Given the description of an element on the screen output the (x, y) to click on. 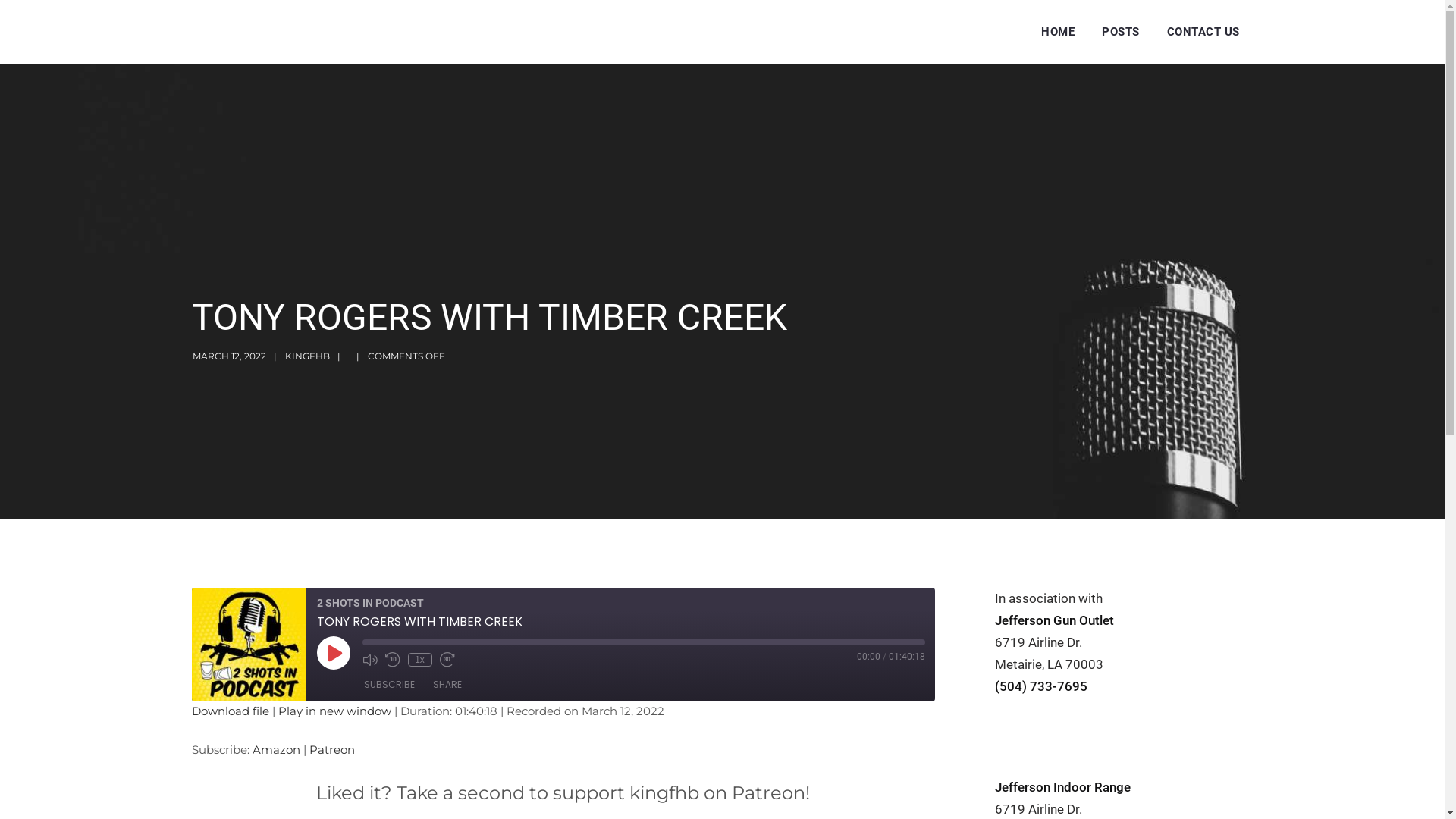
Amazon Element type: text (275, 748)
CONTACT US Element type: text (1202, 32)
Mute/Unmute Element type: hover (369, 659)
Play in new window Element type: text (333, 710)
HOME Element type: text (1057, 32)
Fast Forward 30 seconds Element type: hover (447, 659)
Patreon Element type: text (331, 748)
2 SHOTS IN PODCAST Element type: hover (247, 644)
Jefferson Gun Outlet Element type: text (1053, 619)
POSTS Element type: text (1120, 32)
SHARE Element type: text (446, 684)
Download file Element type: text (229, 710)
Play Element type: hover (333, 652)
(504) 733-7695 Element type: text (1040, 685)
Seek Element type: hover (643, 642)
KINGFHB Element type: text (307, 355)
1x Element type: text (419, 659)
Jefferson Indoor Range Element type: text (1062, 786)
Rewind 10 seconds Element type: hover (392, 659)
SUBSCRIBE Element type: text (389, 684)
